Given the description of an element on the screen output the (x, y) to click on. 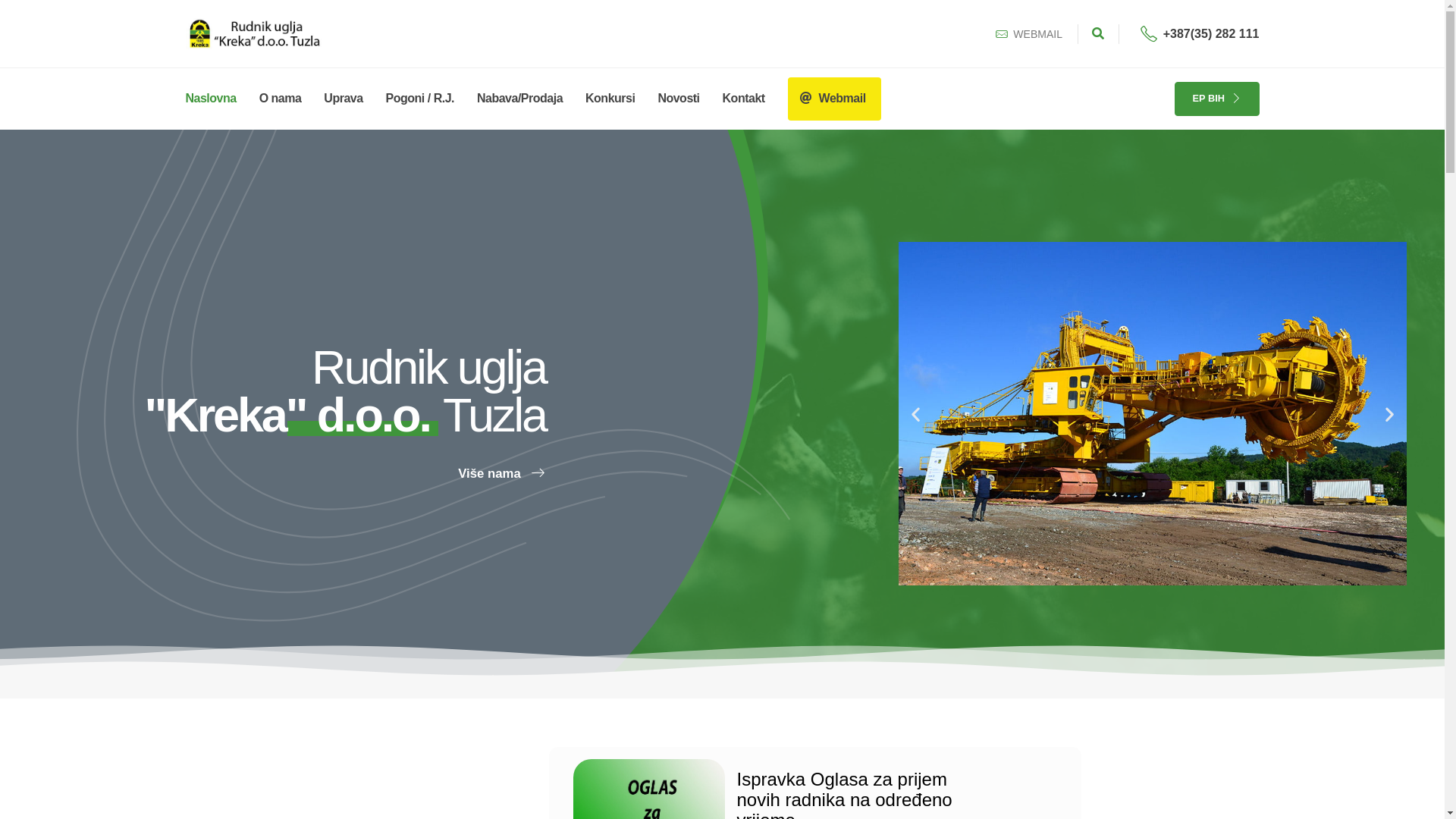
Konkursi Element type: text (609, 98)
Pogoni / R.J. Element type: text (419, 98)
EP BIH Element type: text (1216, 98)
Uprava Element type: text (342, 98)
WEBMAIL Element type: text (1028, 34)
O nama Element type: text (280, 98)
Naslovna Element type: text (210, 98)
Webmail Element type: text (832, 98)
Kontakt Element type: text (743, 98)
+387(35) 282 111 Element type: text (1211, 33)
Novosti Element type: text (678, 98)
Rudnik uglja "Kreka" d.o.o. Tuzla - Sa vama od 1885 godine! Element type: hover (253, 33)
Nabava/Prodaja Element type: text (519, 98)
